Given the description of an element on the screen output the (x, y) to click on. 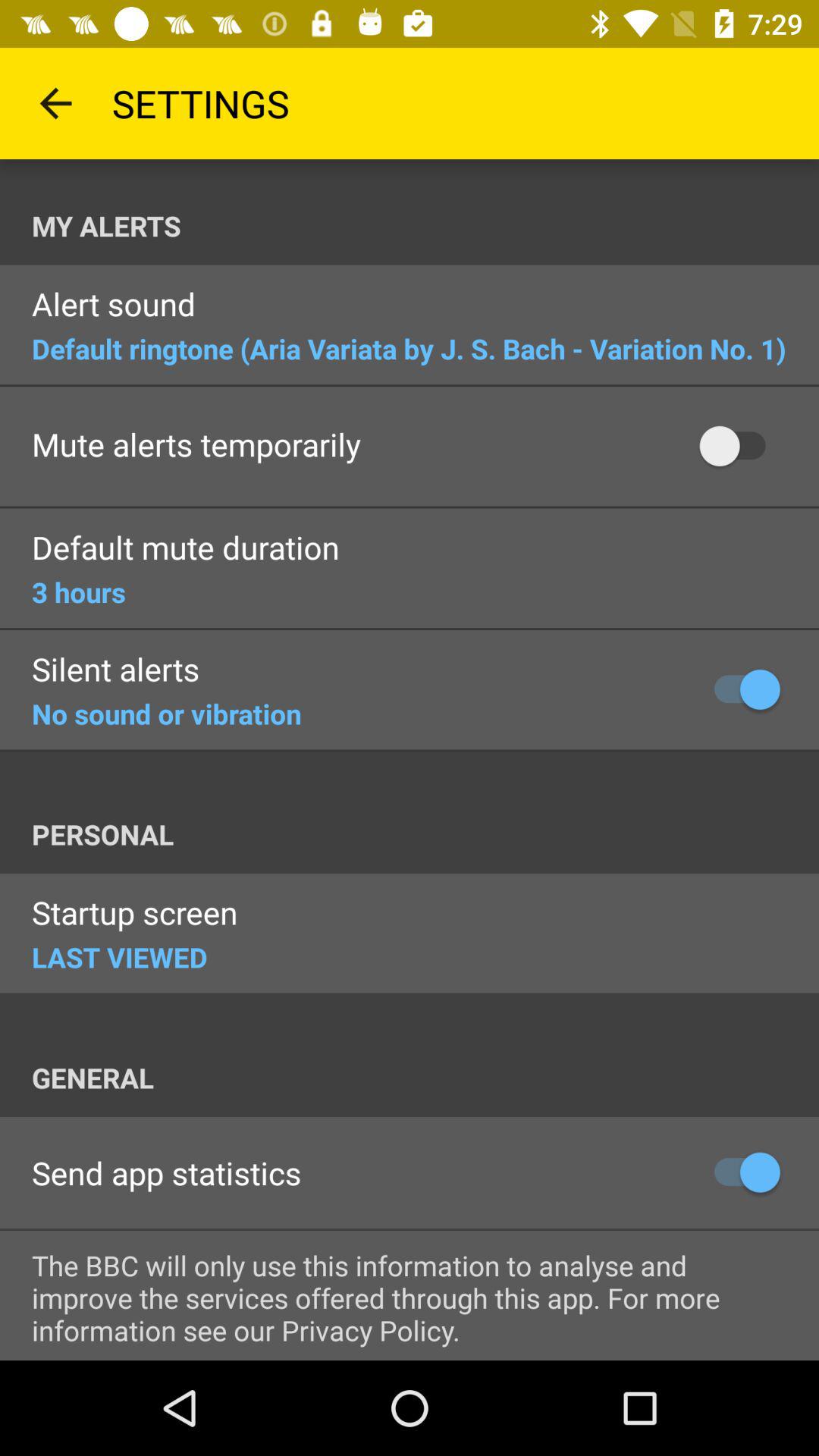
flip to the 3 hours icon (78, 591)
